Given the description of an element on the screen output the (x, y) to click on. 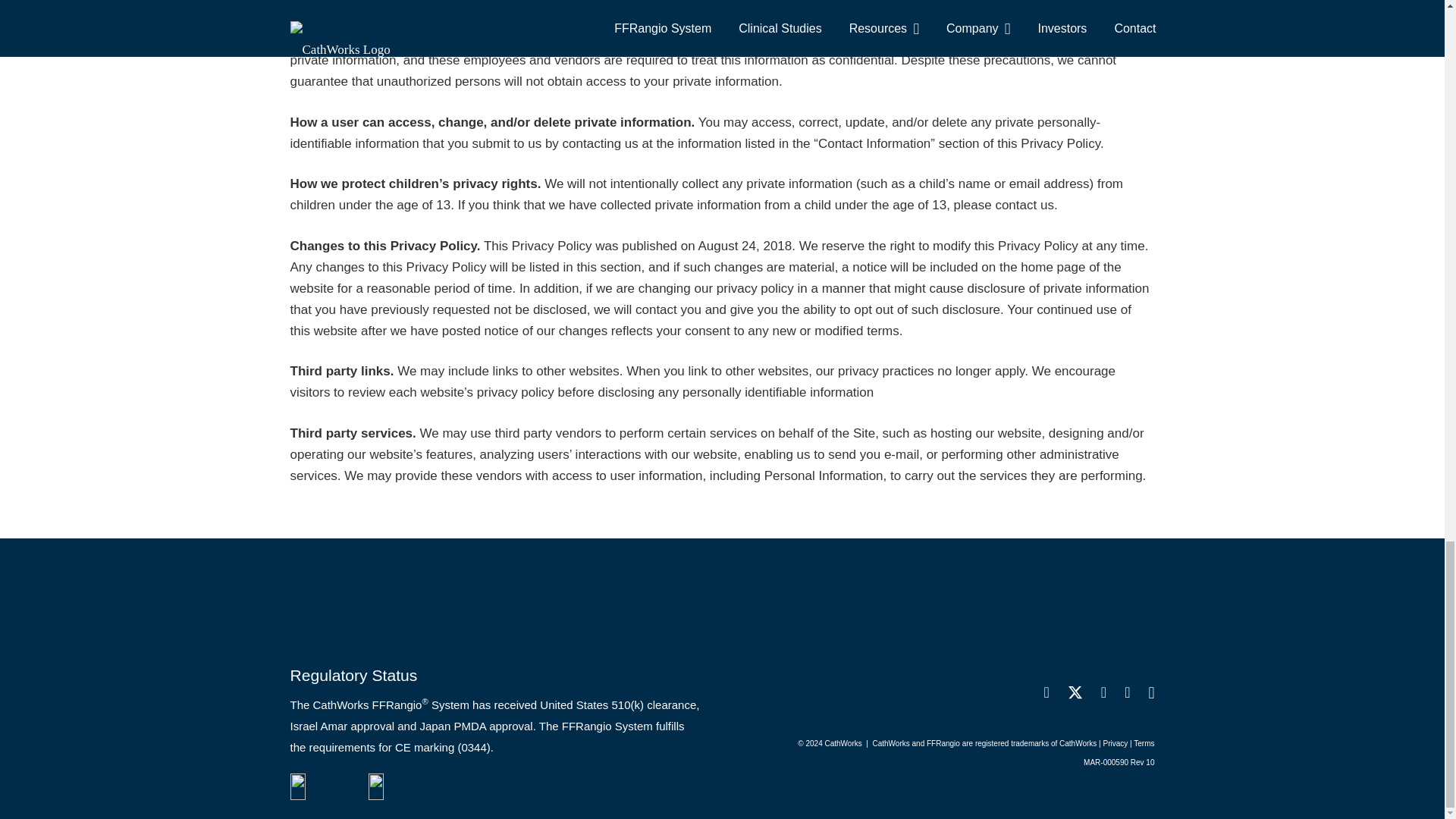
Terms (1144, 743)
Privacy (1114, 743)
Twitter (1075, 692)
